Given the description of an element on the screen output the (x, y) to click on. 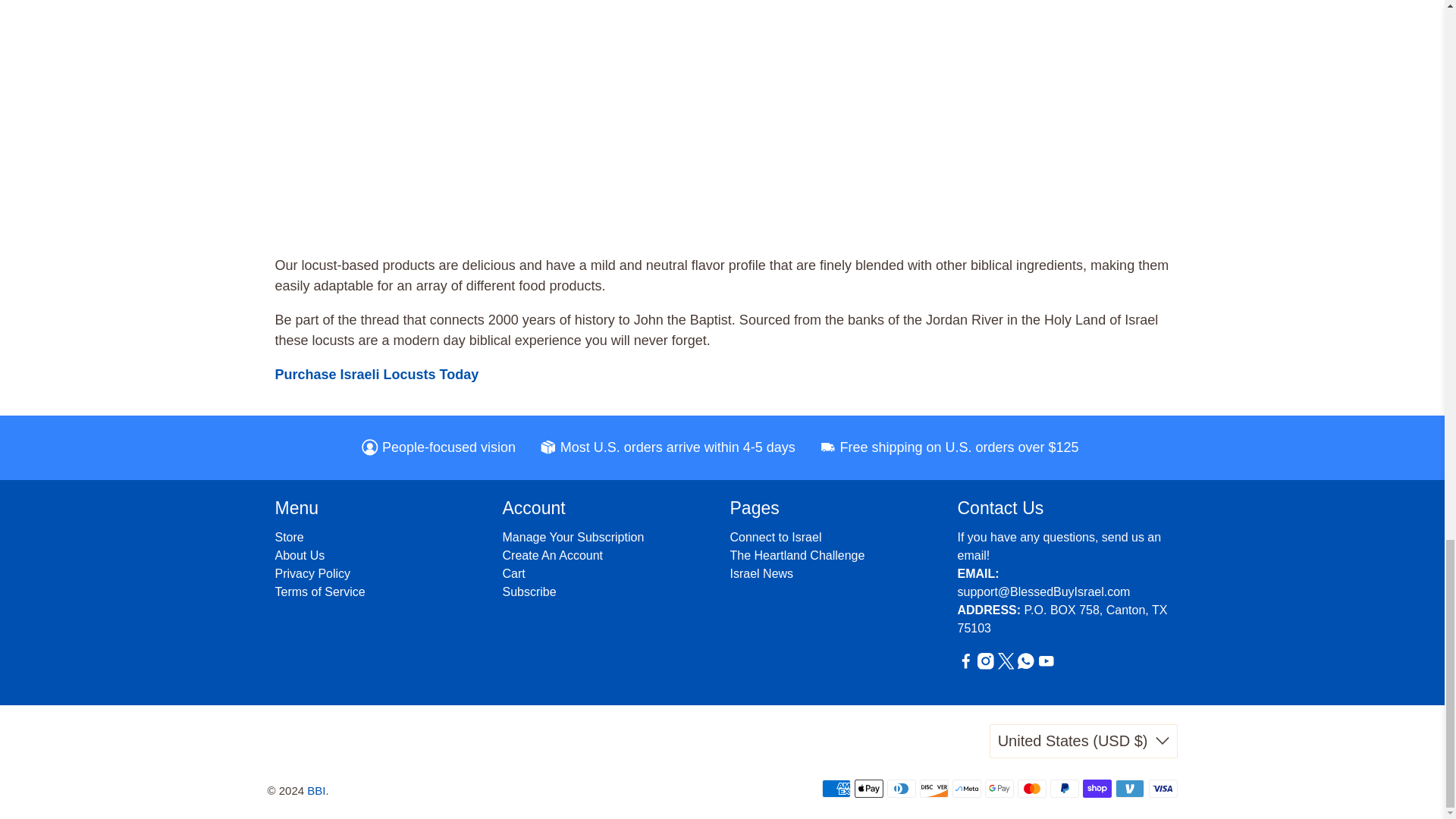
Discover (934, 788)
BBI on WhatsApp (1025, 665)
Israeli Locusts (377, 374)
Diners Club (900, 788)
Mastercard (1031, 788)
Google Pay (999, 788)
BBI on Instagram (985, 665)
BBI on Facebook (965, 665)
American Express (836, 788)
PayPal (1063, 788)
